Given the description of an element on the screen output the (x, y) to click on. 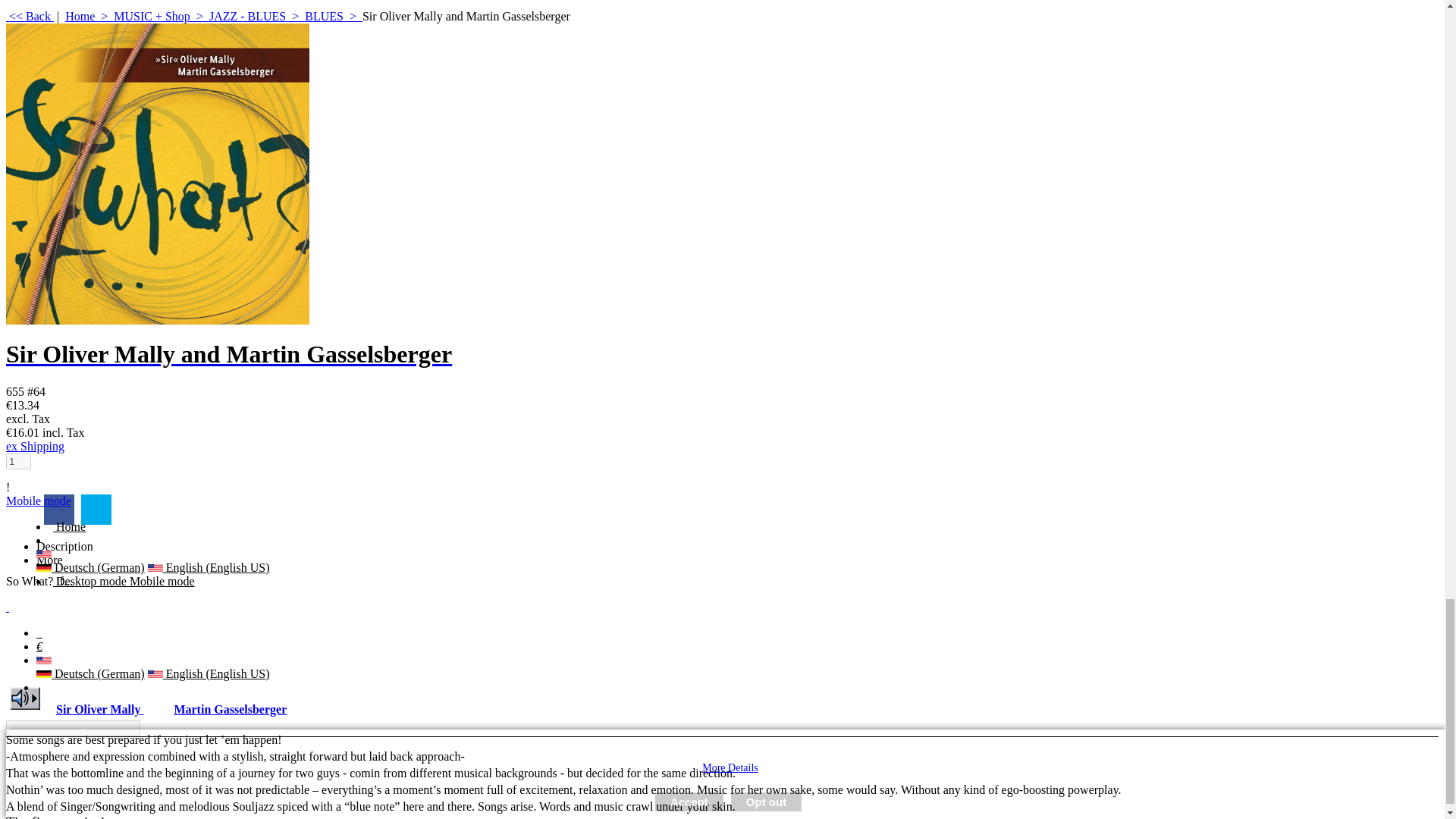
1 (17, 461)
